Given the description of an element on the screen output the (x, y) to click on. 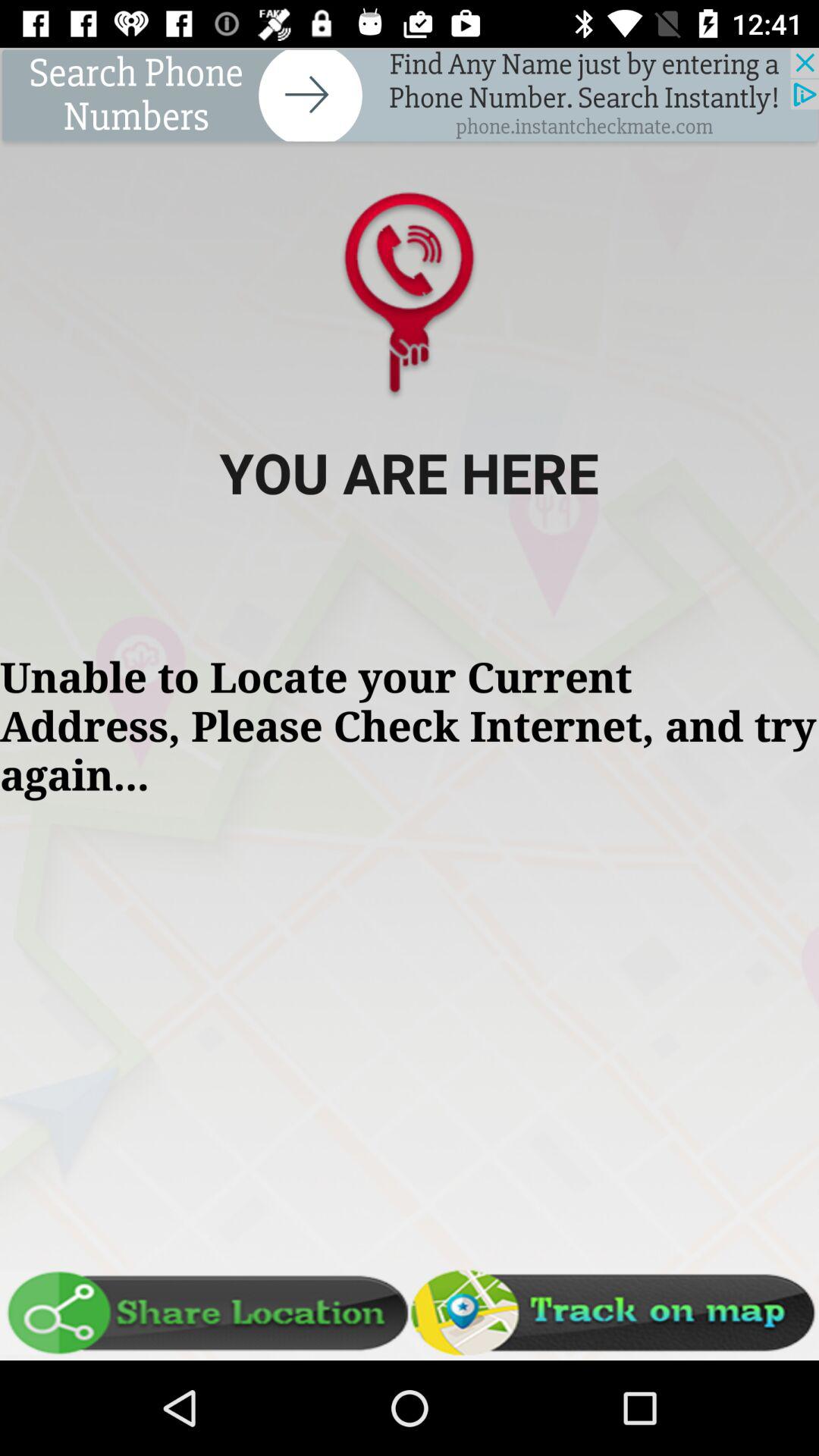
go to this page (409, 97)
